Given the description of an element on the screen output the (x, y) to click on. 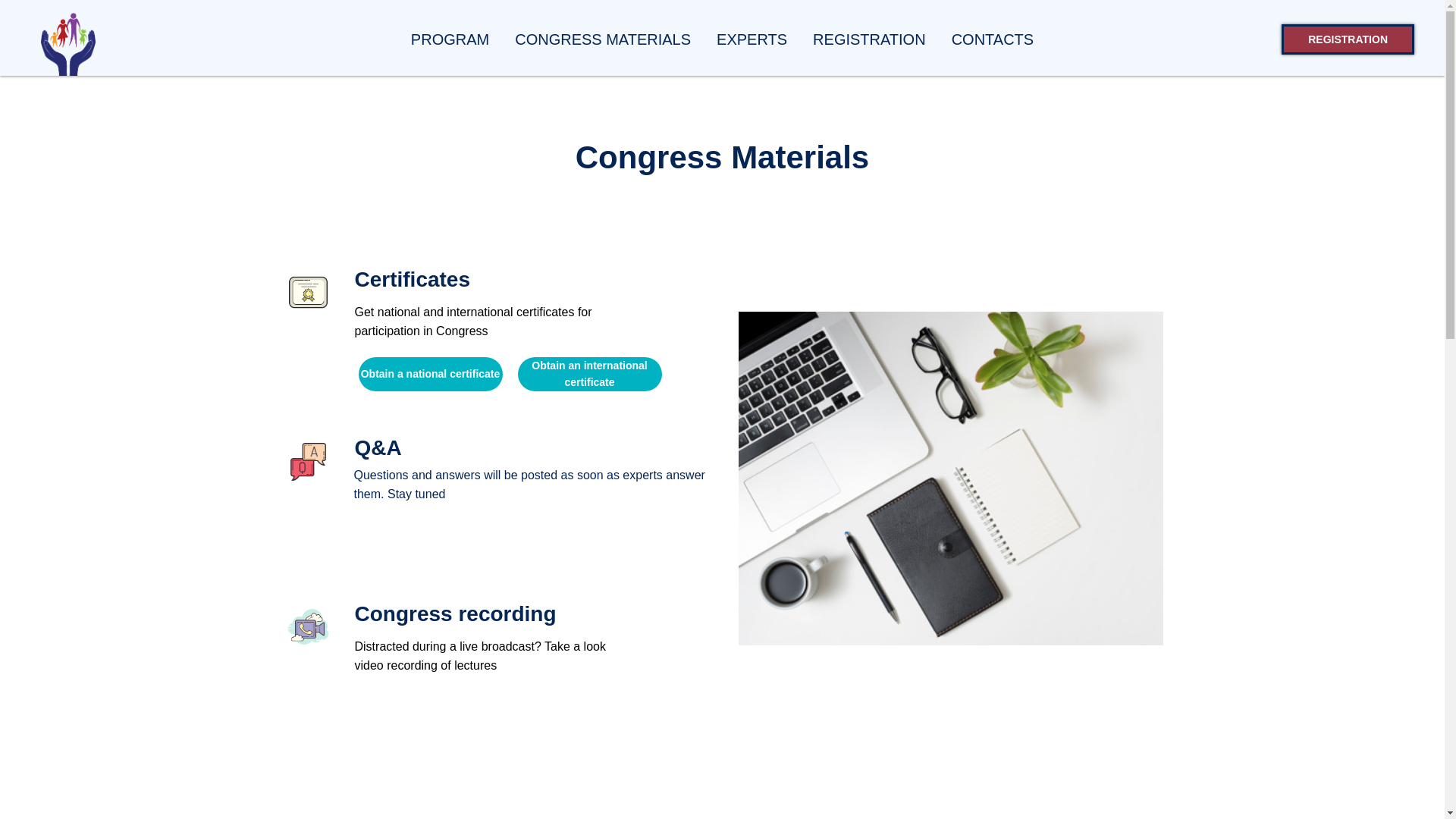
EXPERTS (751, 38)
REGISTRATION (869, 38)
PROGRAM (449, 38)
CONTACTS (992, 38)
CONGRESS MATERIALS (602, 38)
REGISTRATION (1347, 39)
Obtain a national certificate (430, 374)
Obtain an international certificate (588, 374)
